Given the description of an element on the screen output the (x, y) to click on. 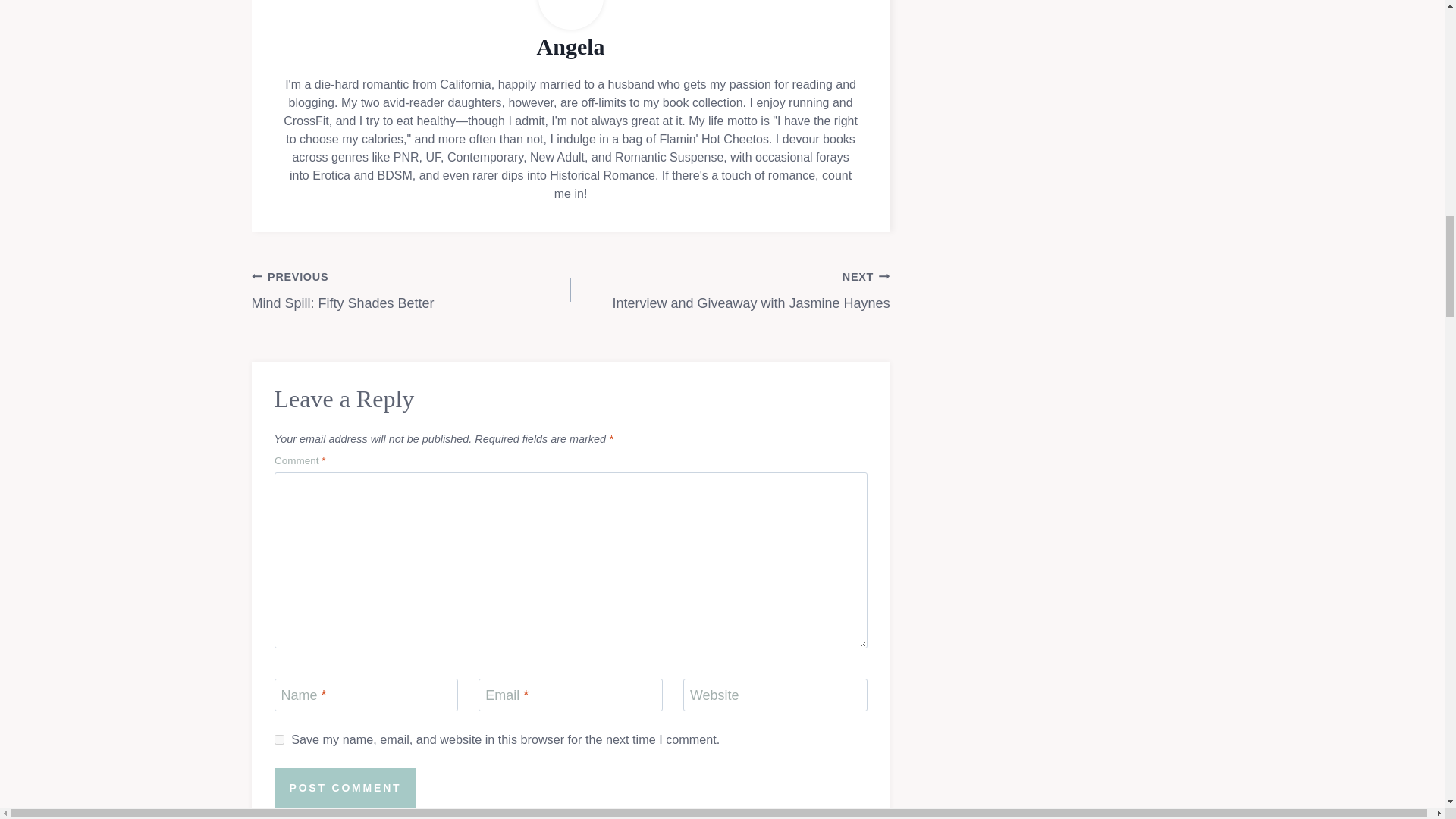
Post Comment (345, 788)
yes (279, 739)
